Given the description of an element on the screen output the (x, y) to click on. 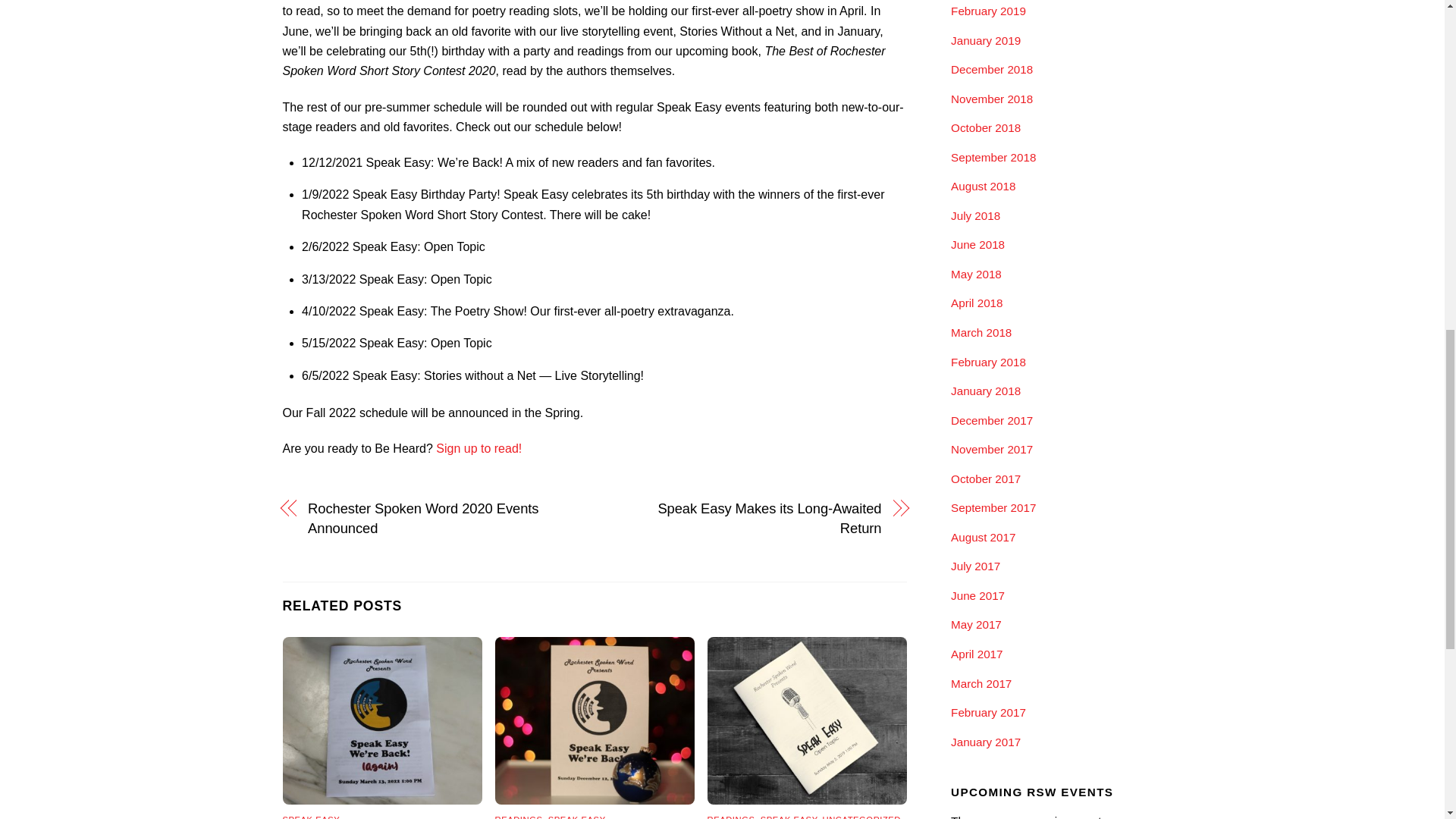
Sign up to read! (478, 448)
Rochester Spoken Word 2020 Events Announced (441, 518)
UNCATEGORIZED (861, 816)
READINGS (519, 816)
Speak Easy Makes its Long-Awaited Return (746, 518)
SPEAK EASY (788, 816)
READINGS (731, 816)
SPEAK EASY (310, 816)
SPEAK EASY (576, 816)
